Given the description of an element on the screen output the (x, y) to click on. 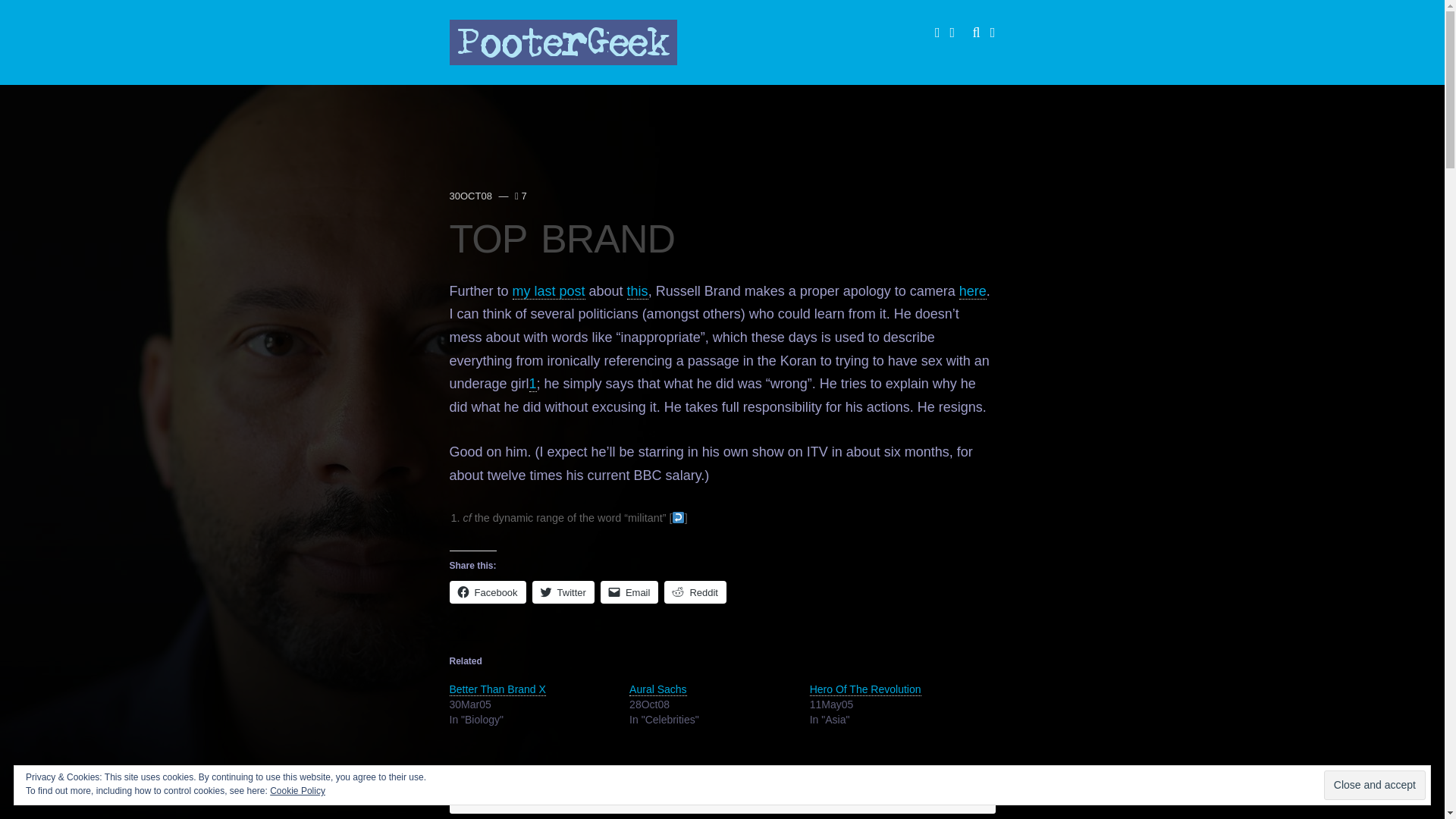
Close and accept (1374, 785)
